Given the description of an element on the screen output the (x, y) to click on. 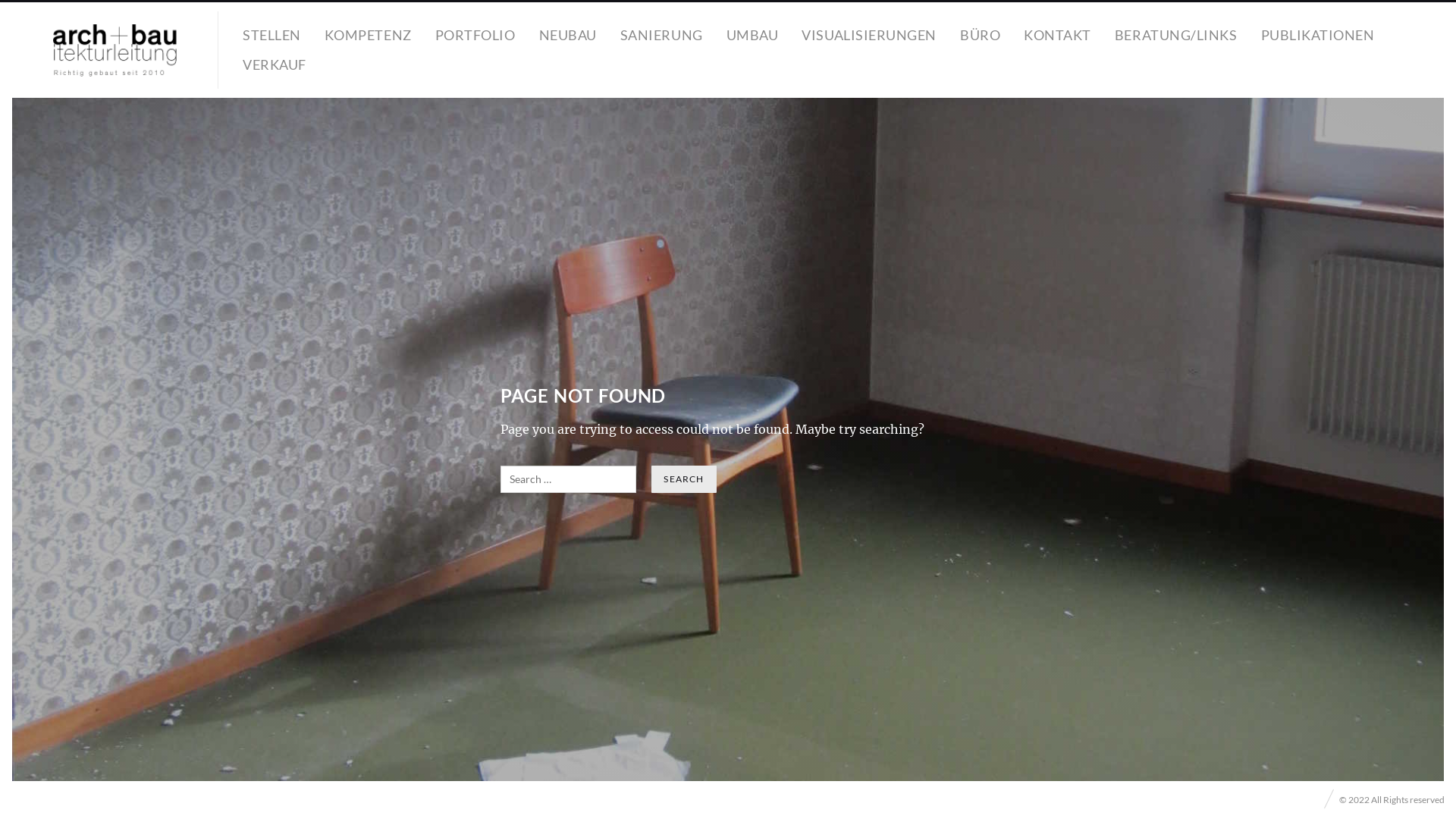
SANIERUNG Element type: text (661, 35)
Search Element type: text (683, 478)
KONTAKT Element type: text (1057, 35)
UMBAU Element type: text (752, 35)
NEUBAU Element type: text (567, 35)
PORTFOLIO Element type: text (475, 35)
BERATUNG/LINKS Element type: text (1176, 35)
KOMPETENZ Element type: text (367, 35)
PUBLIKATIONEN Element type: text (1317, 35)
STELLEN Element type: text (271, 35)
VERKAUF Element type: text (274, 64)
VISUALISIERUNGEN Element type: text (868, 35)
